Given the description of an element on the screen output the (x, y) to click on. 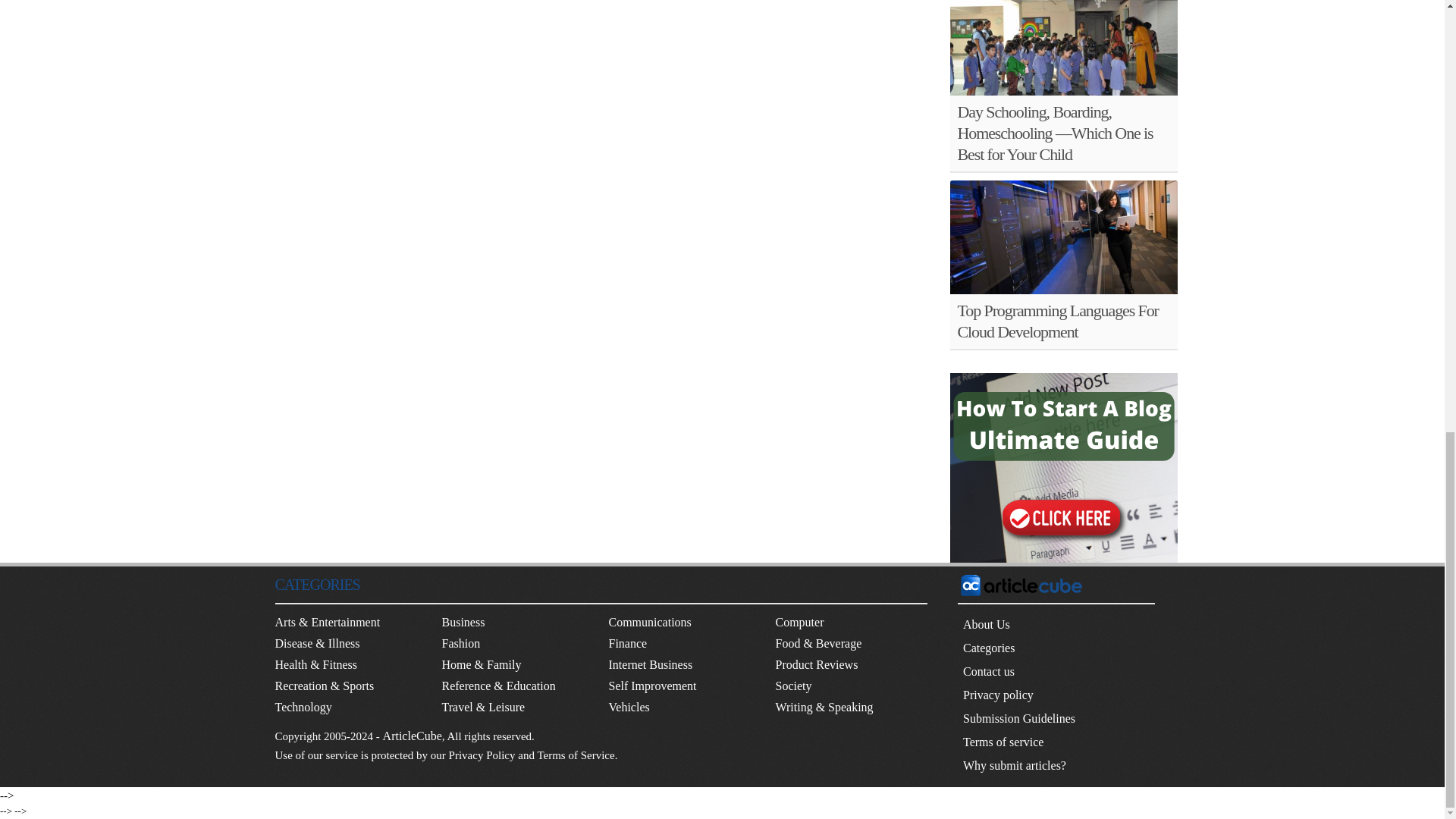
Top Programming Languages For Cloud Development (1056, 321)
Computer (799, 621)
Business (462, 621)
Communications (649, 621)
Finance (627, 643)
Fashion (460, 643)
